Given the description of an element on the screen output the (x, y) to click on. 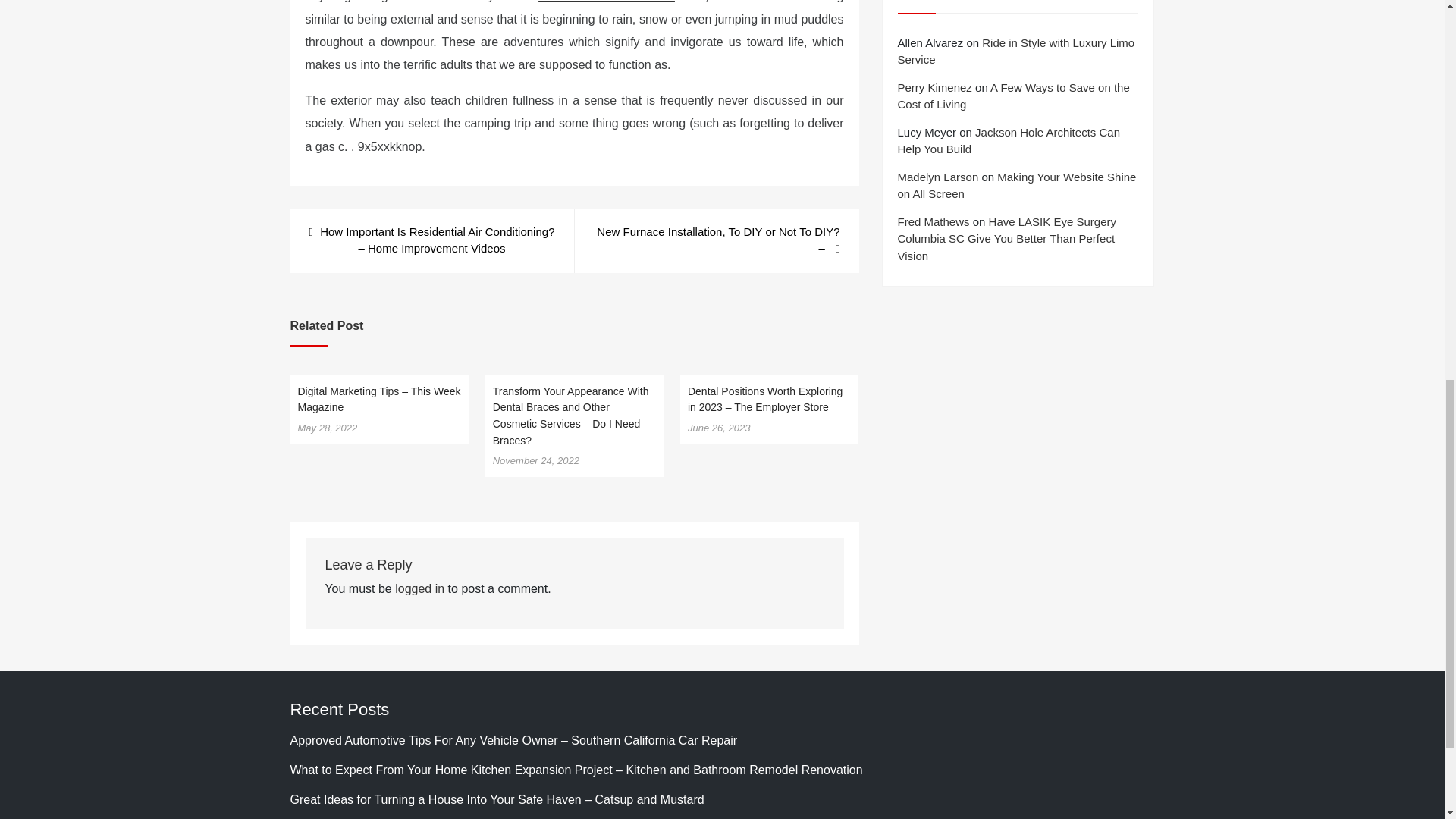
logged in (419, 588)
Ride in Style with Luxury Limo Service (1016, 51)
view nature exhibits for (606, 1)
A Few Ways to Save on the Cost of Living (1013, 96)
Jackson Hole Architects Can Help You Build (1008, 141)
Madelyn Larson (938, 176)
Perry Kimenez (935, 87)
Making Your Website Shine on All Screen (1017, 185)
